Given the description of an element on the screen output the (x, y) to click on. 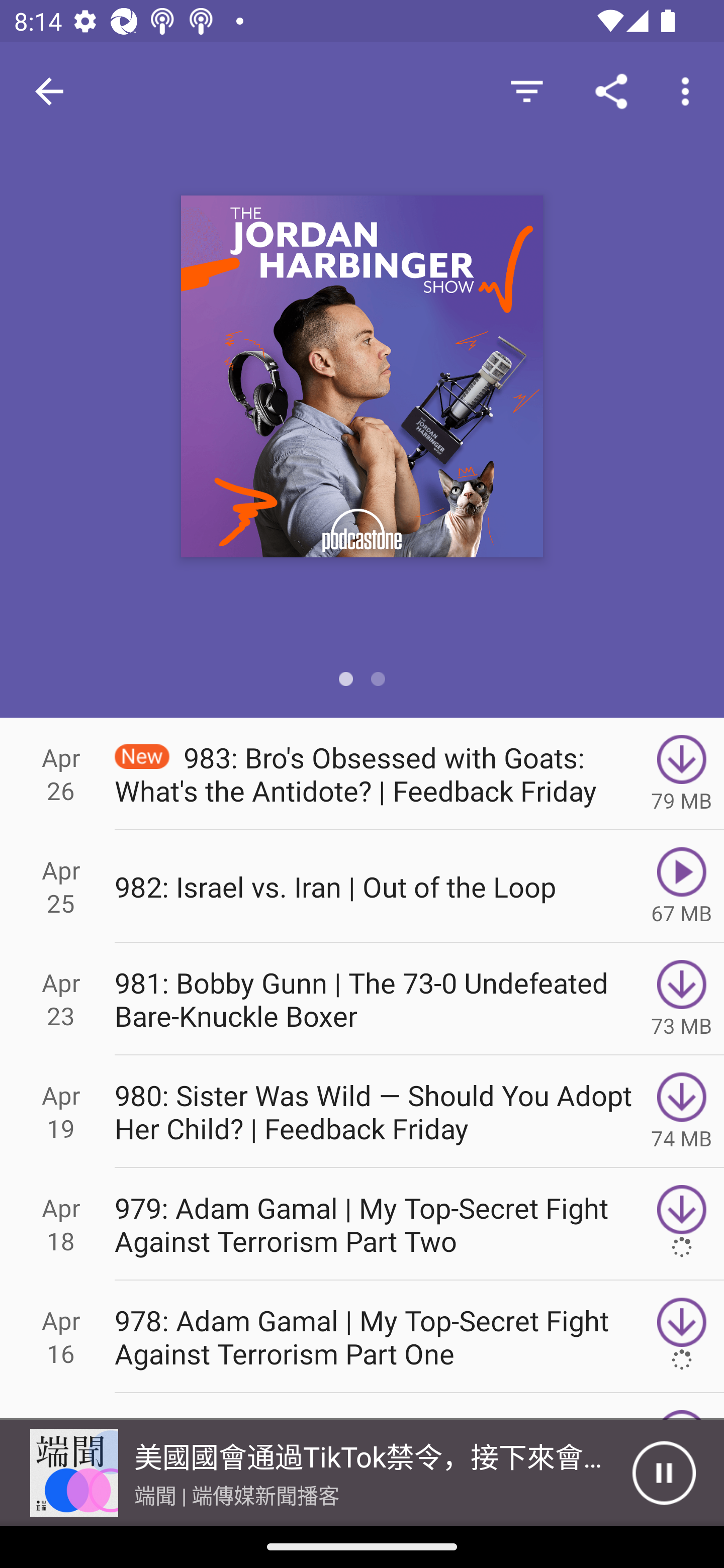
Navigate up (49, 91)
Hide Episodes (526, 90)
Share Link (611, 90)
More options (688, 90)
Download 79 MB (681, 773)
Play 67 MB (681, 885)
Download 73 MB (681, 998)
Download 74 MB (681, 1111)
Download  (681, 1224)
Download  (681, 1336)
Picture 美國國會通過TikTok禁令，接下來會發生什麼？ 端聞 | 端傳媒新聞播客 (316, 1472)
Pause (663, 1472)
